Given the description of an element on the screen output the (x, y) to click on. 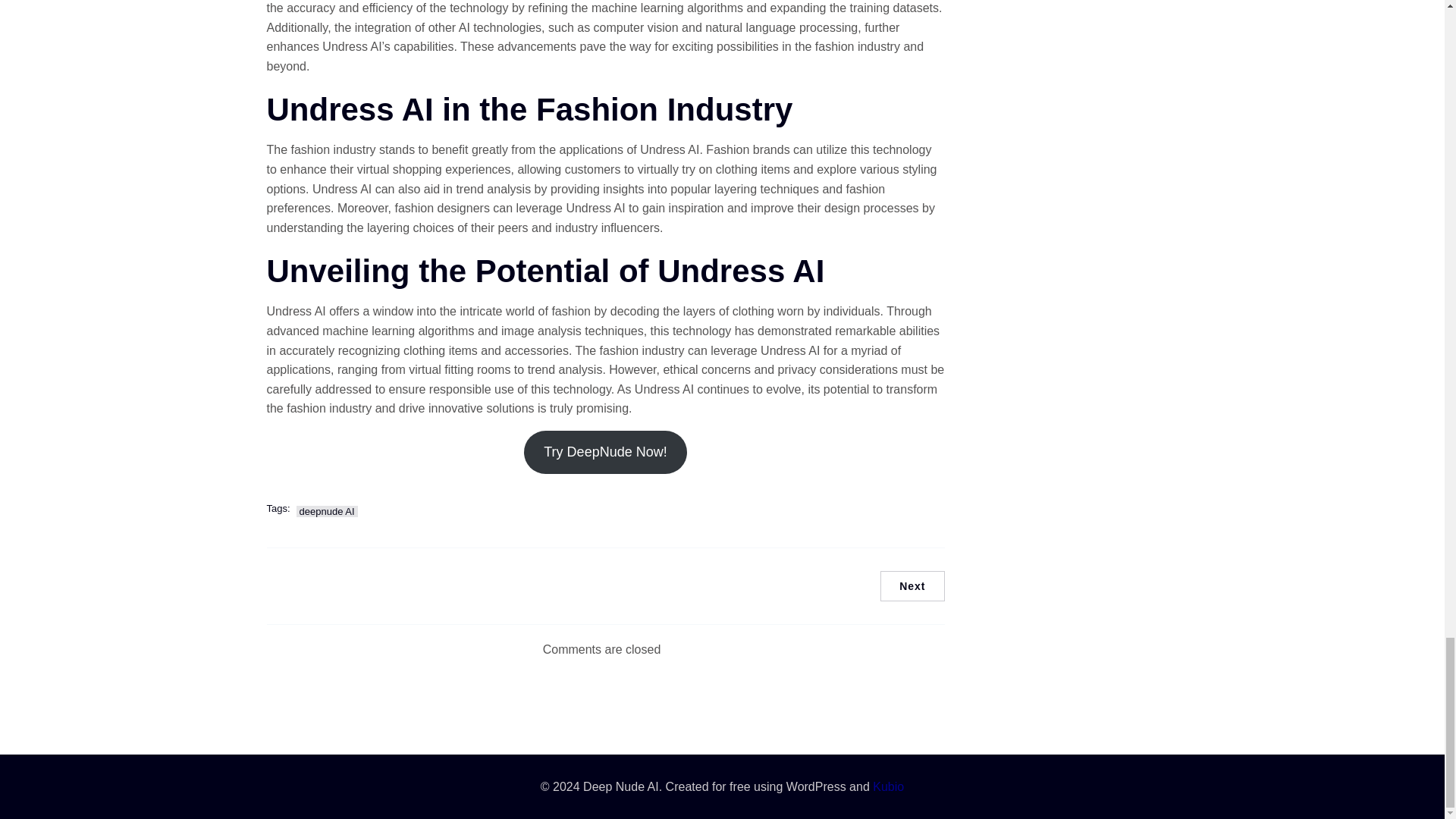
deepnude AI (327, 511)
Next (911, 585)
Try DeepNude Now! (604, 452)
Kubio (888, 786)
